Given the description of an element on the screen output the (x, y) to click on. 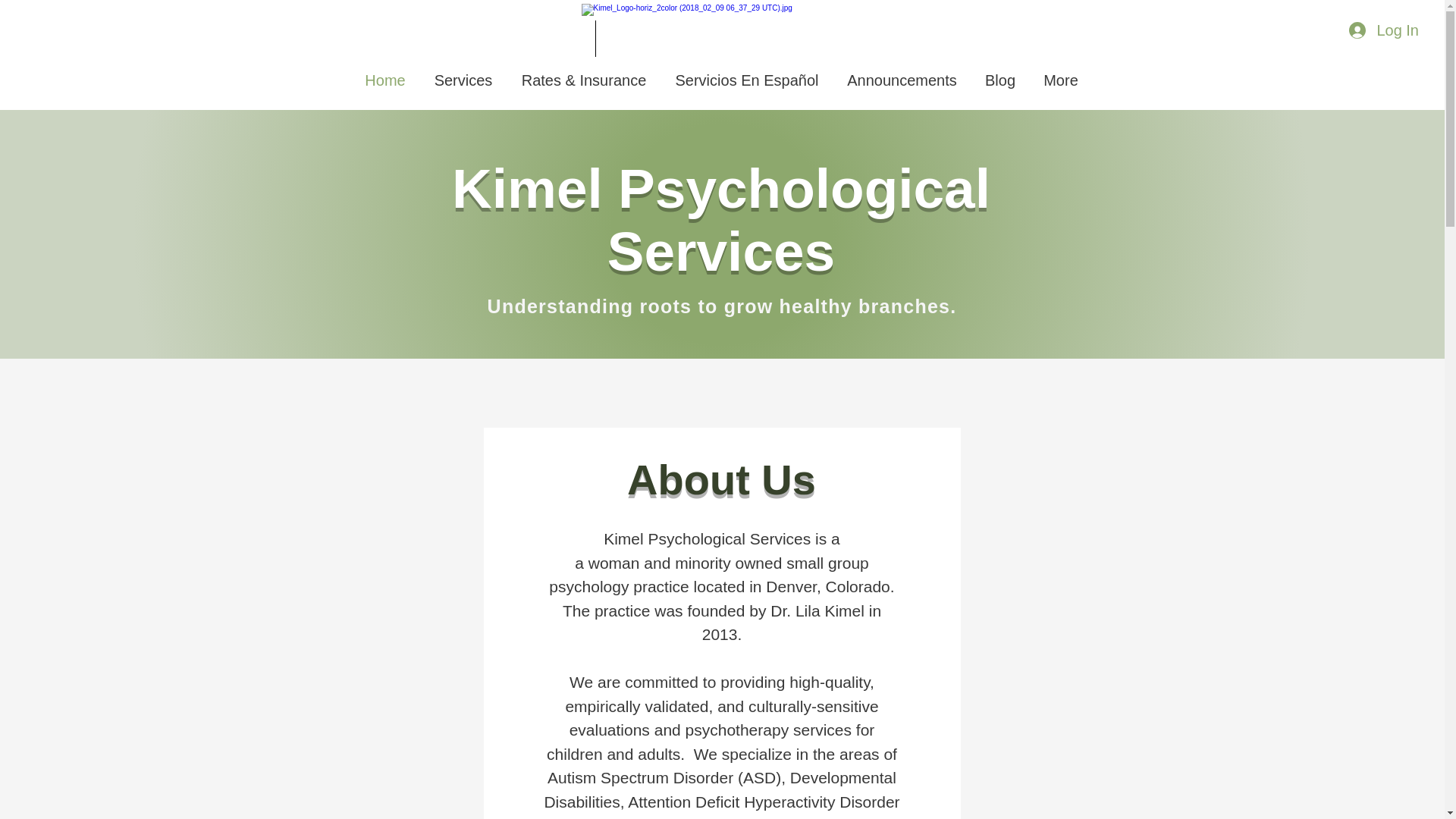
Services (463, 80)
Announcements (901, 80)
Blog (1000, 80)
Home (384, 80)
Log In (1383, 29)
Tree-Black.png (691, 35)
